Given the description of an element on the screen output the (x, y) to click on. 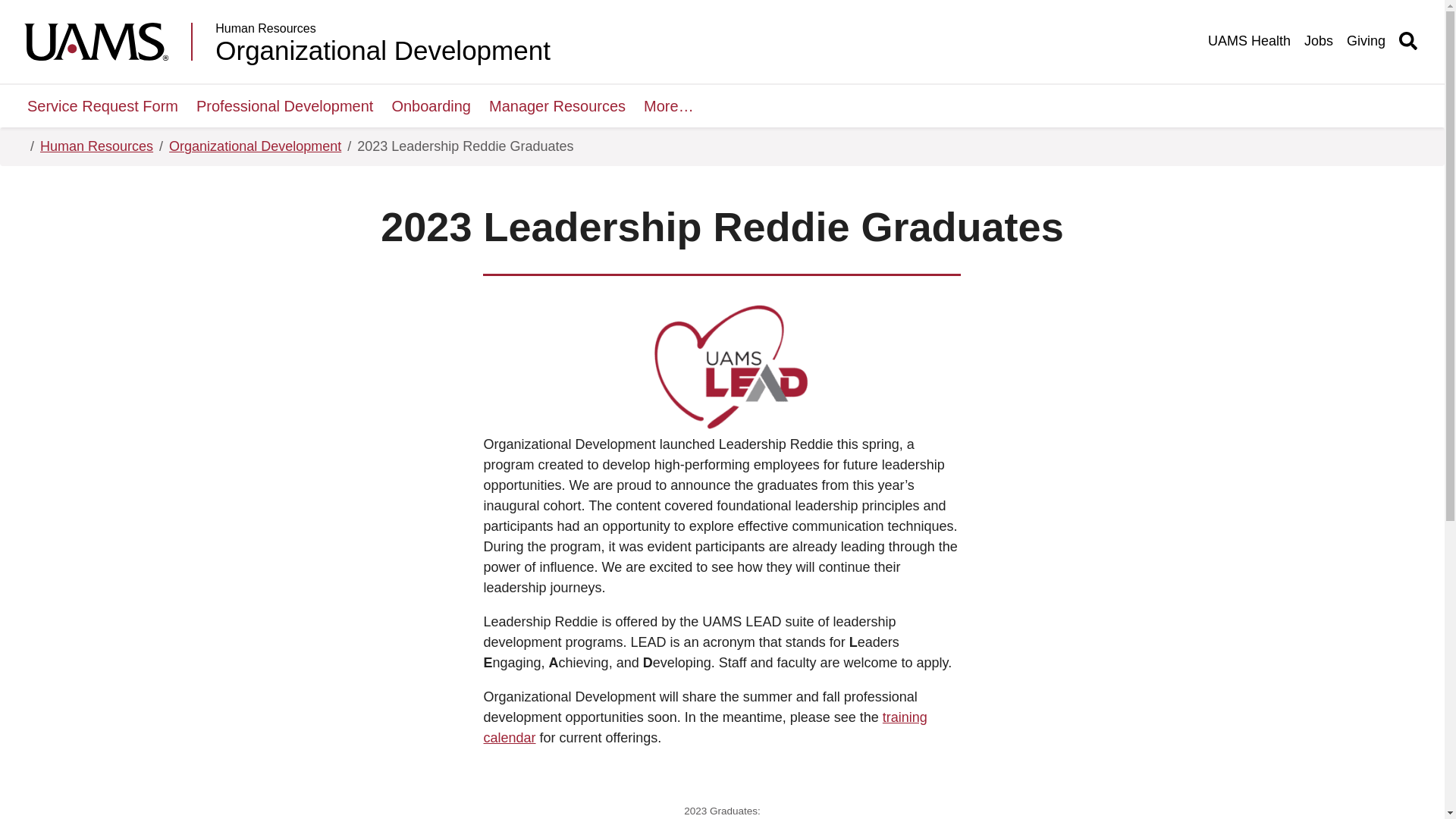
Professional Development (284, 106)
Onboarding (430, 106)
Manager Resources (557, 106)
Jobs (1318, 40)
Human Resources (382, 28)
University of Arkansas for Medical Sciences (108, 41)
Onboarding (430, 106)
Service Request Form (102, 106)
Giving (1366, 40)
